Given the description of an element on the screen output the (x, y) to click on. 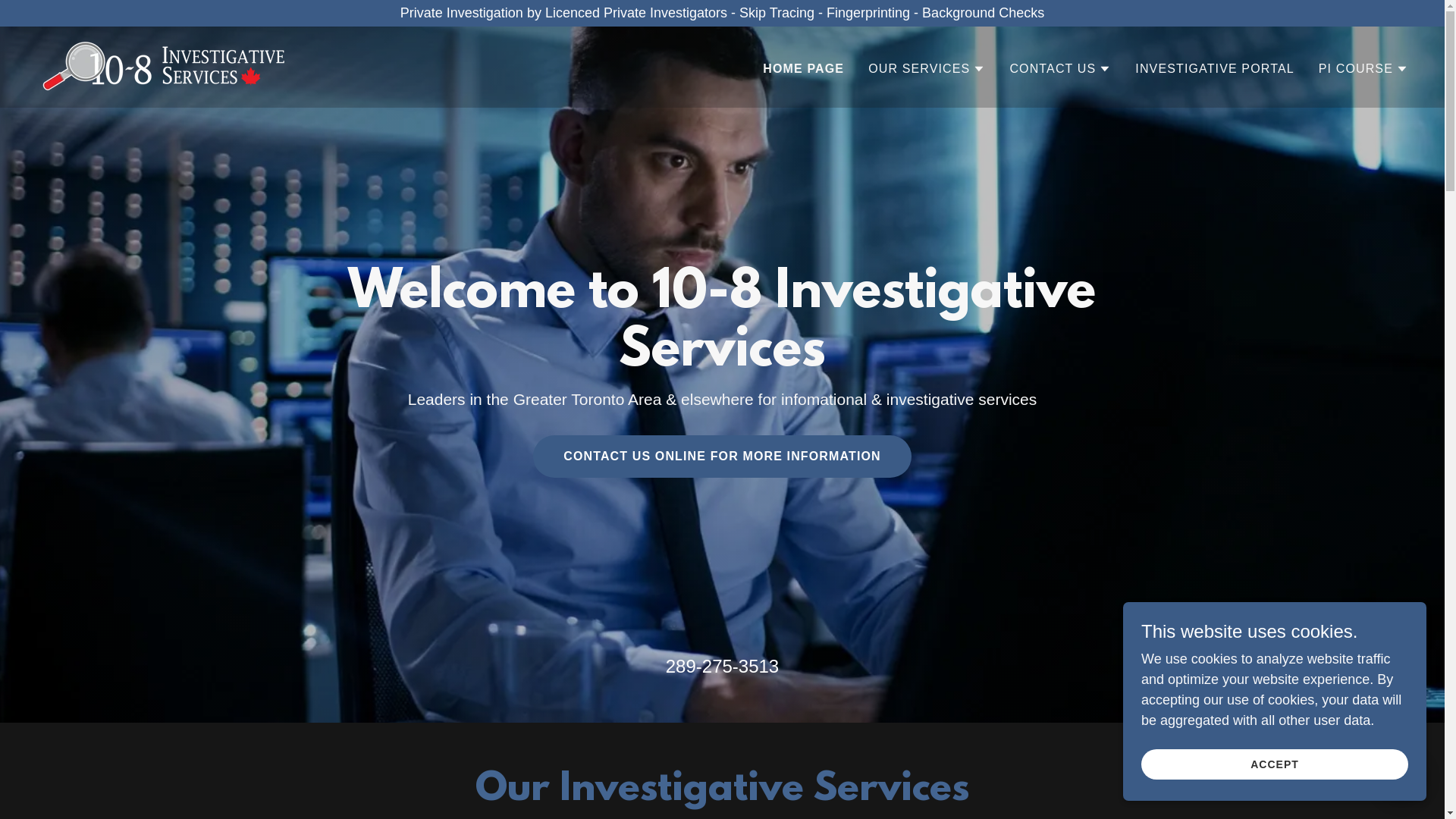
INVESTIGATIVE PORTAL Element type: text (1214, 68)
HOME PAGE Element type: text (803, 68)
289-275-3513 Element type: text (721, 665)
PI COURSE Element type: text (1363, 68)
OUR SERVICES Element type: text (926, 68)
CONTACT US Element type: text (1059, 68)
CONTACT US ONLINE FOR MORE INFORMATION Element type: text (722, 456)
10-8 Investigative Services Element type: hover (163, 65)
ACCEPT Element type: text (1274, 764)
